Given the description of an element on the screen output the (x, y) to click on. 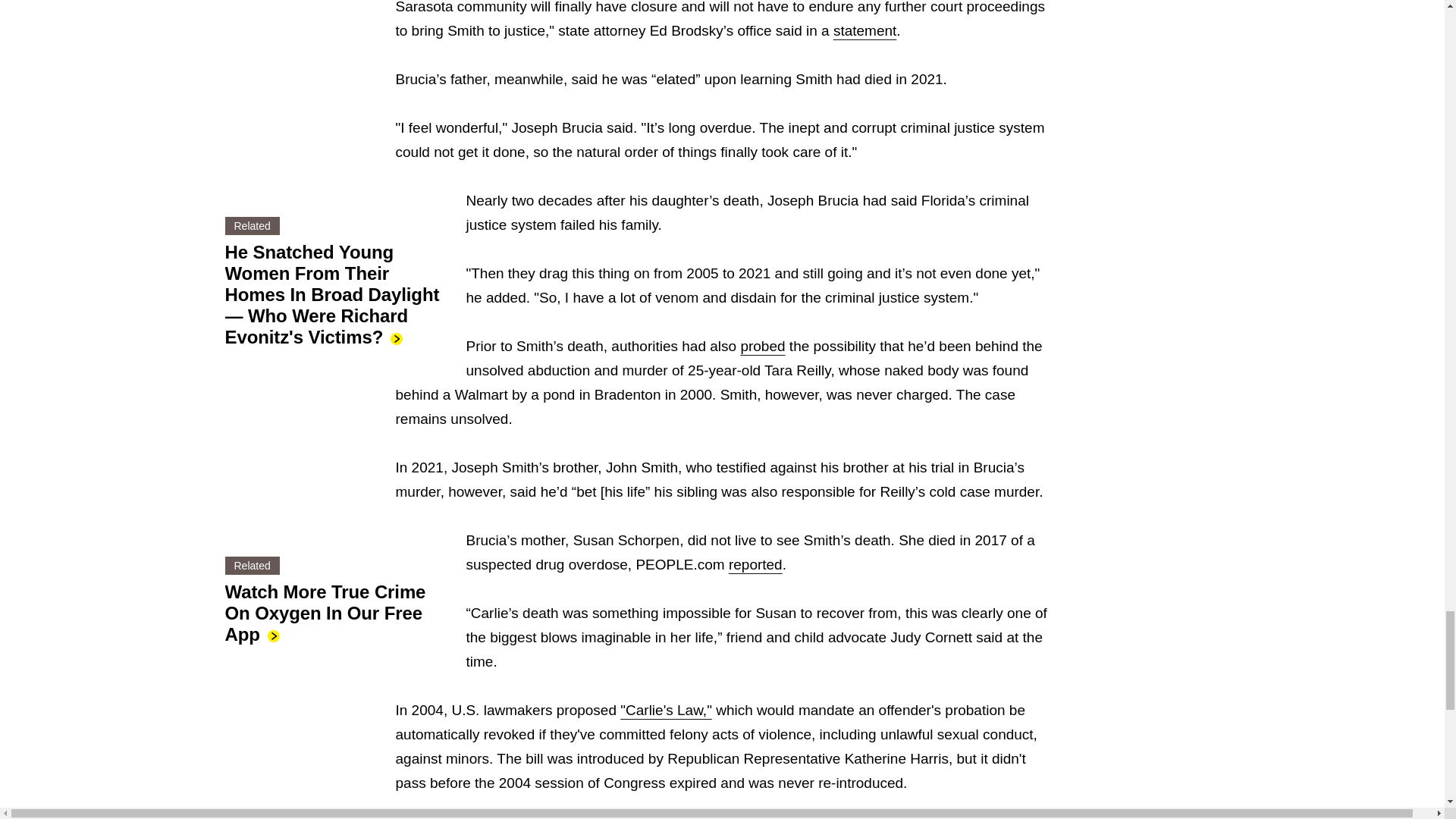
statement (864, 30)
"Carlie's Law," (665, 709)
reported (756, 564)
probed (761, 345)
